Given the description of an element on the screen output the (x, y) to click on. 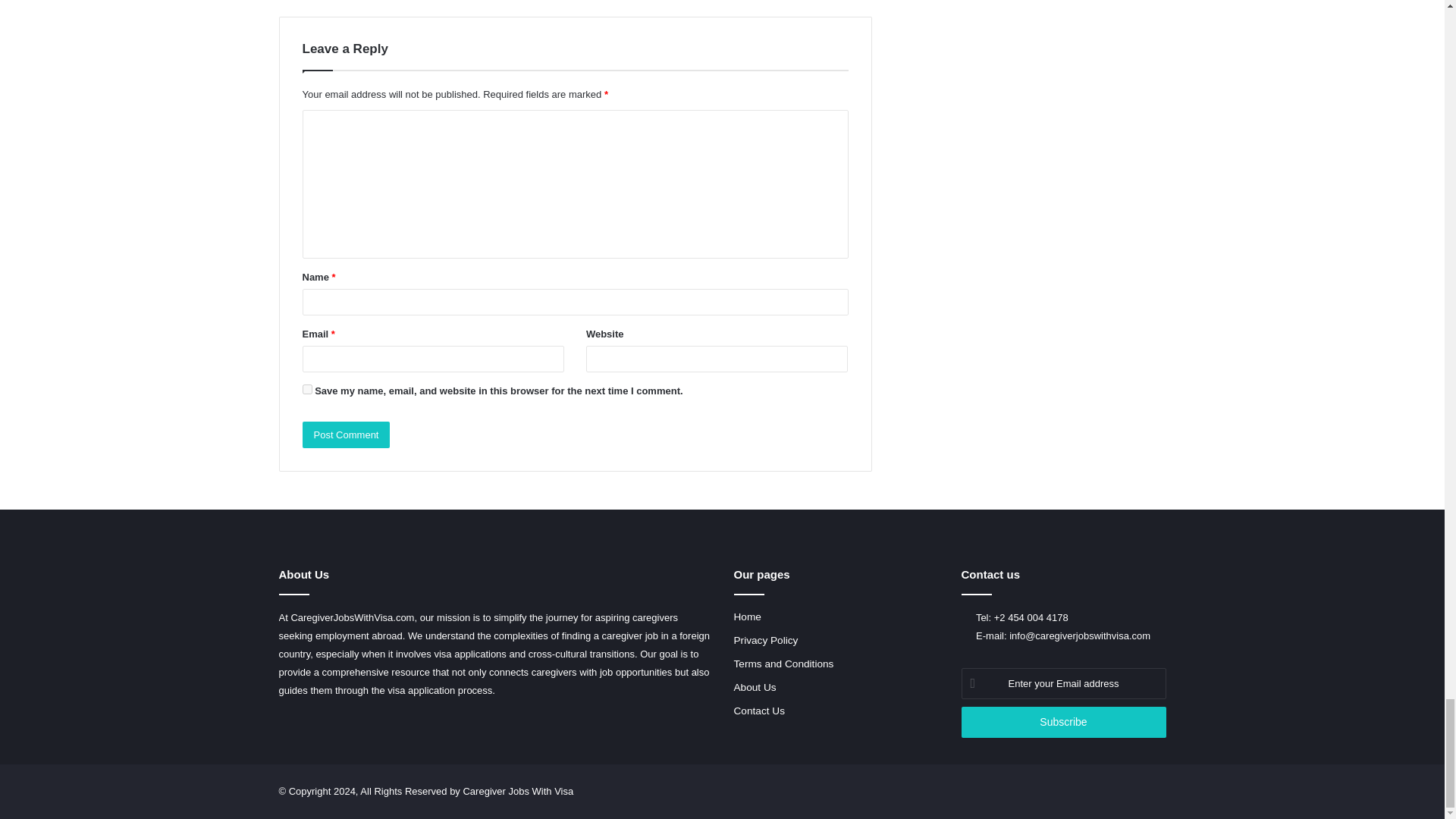
Post Comment (345, 434)
yes (306, 388)
Subscribe (1063, 721)
